Given the description of an element on the screen output the (x, y) to click on. 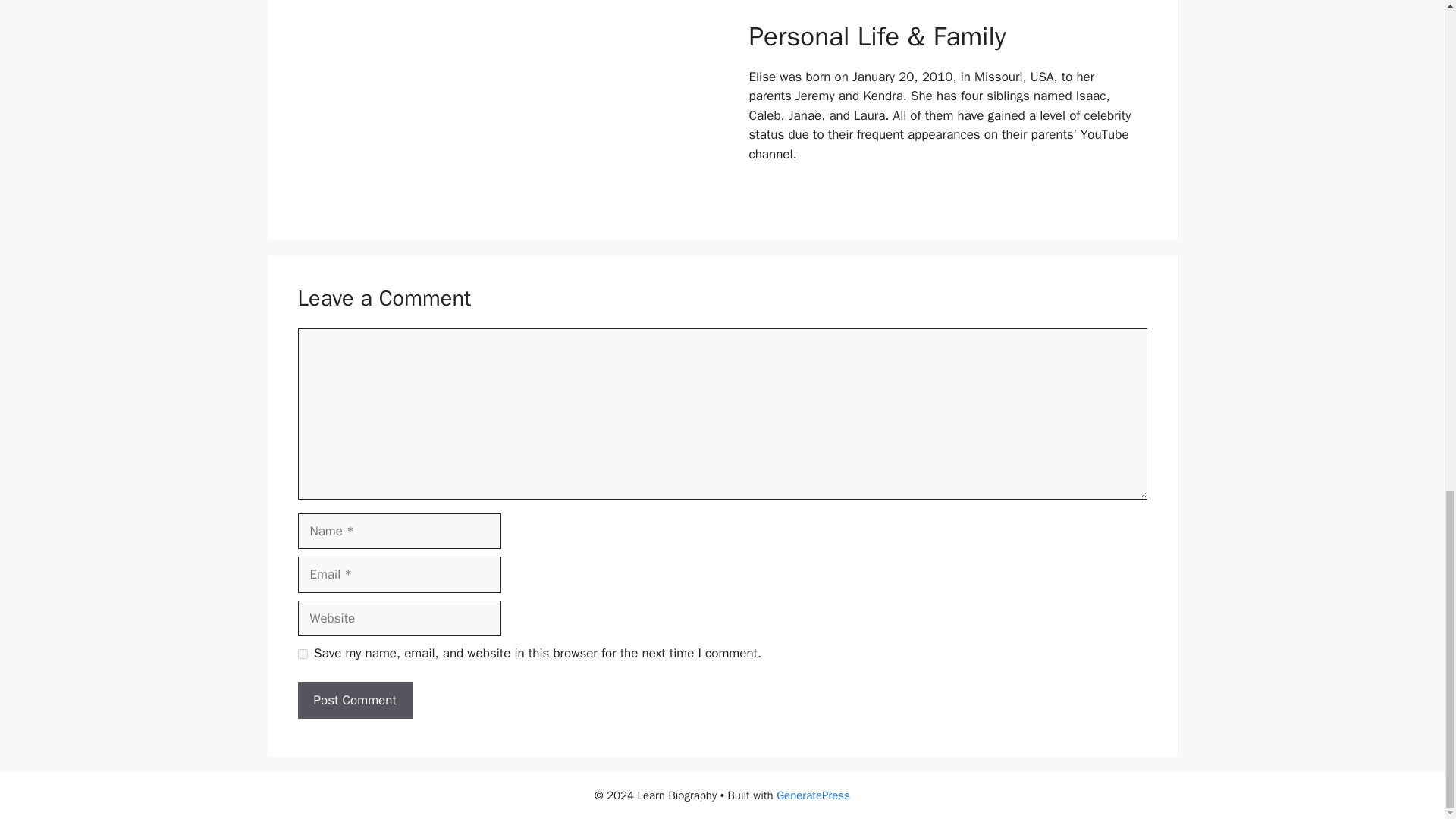
Post Comment (354, 700)
Post Comment (354, 700)
GeneratePress (813, 795)
yes (302, 654)
